Given the description of an element on the screen output the (x, y) to click on. 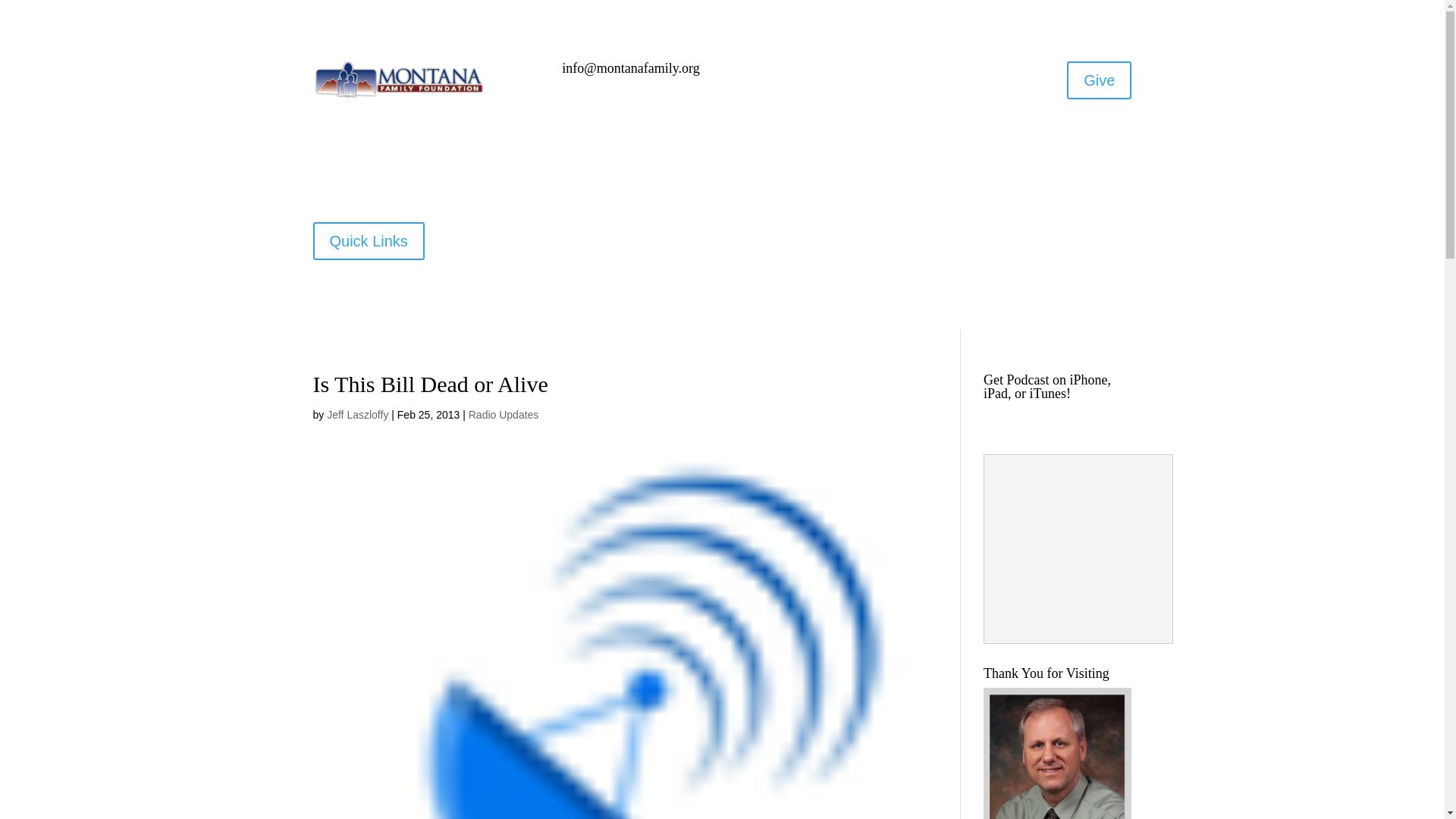
Radio Updates (503, 414)
Posts by Jeff Laszloffy (357, 414)
MT Legislature (989, 236)
Get Involved (833, 236)
Contact Us (730, 258)
Follow on Facebook (815, 73)
Bill Tracker (1075, 236)
Resources (654, 258)
The Truth About CI-128 (614, 236)
2023 Legislative Scorecard (975, 258)
Jeff Laszloffy (357, 414)
About (909, 236)
Follow on X (844, 73)
Quick Links (368, 240)
Give (1099, 80)
